Given the description of an element on the screen output the (x, y) to click on. 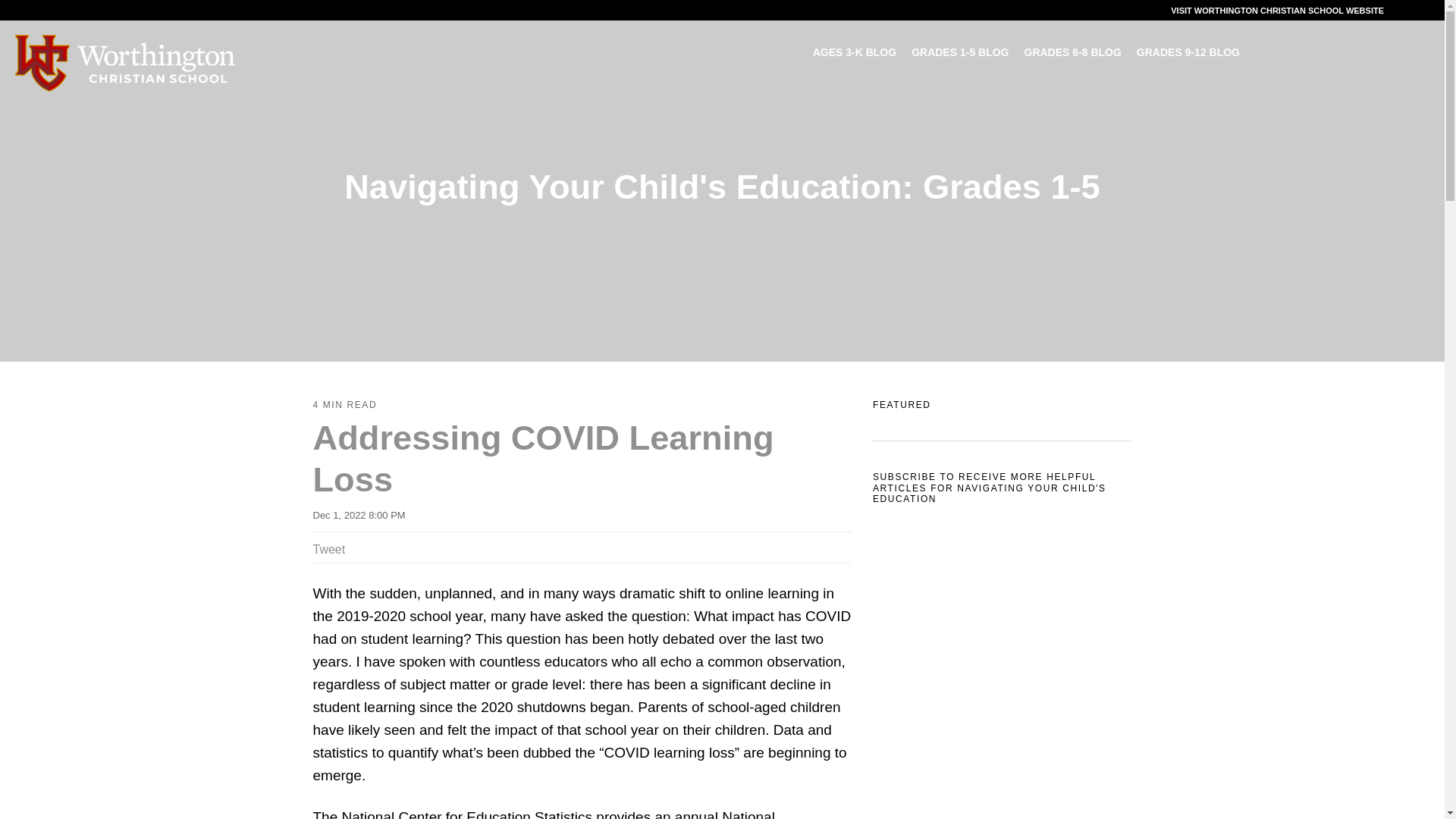
AGES 3-K BLOG (854, 52)
VISIT WORTHINGTON CHRISTIAN SCHOOL WEBSITE (1277, 11)
GRADES 9-12 BLOG (1188, 52)
GRADES 6-8 BLOG (1072, 52)
GRADES 1-5 BLOG (960, 52)
Tweet (329, 549)
Addressing COVID Learning Loss (543, 457)
